Given the description of an element on the screen output the (x, y) to click on. 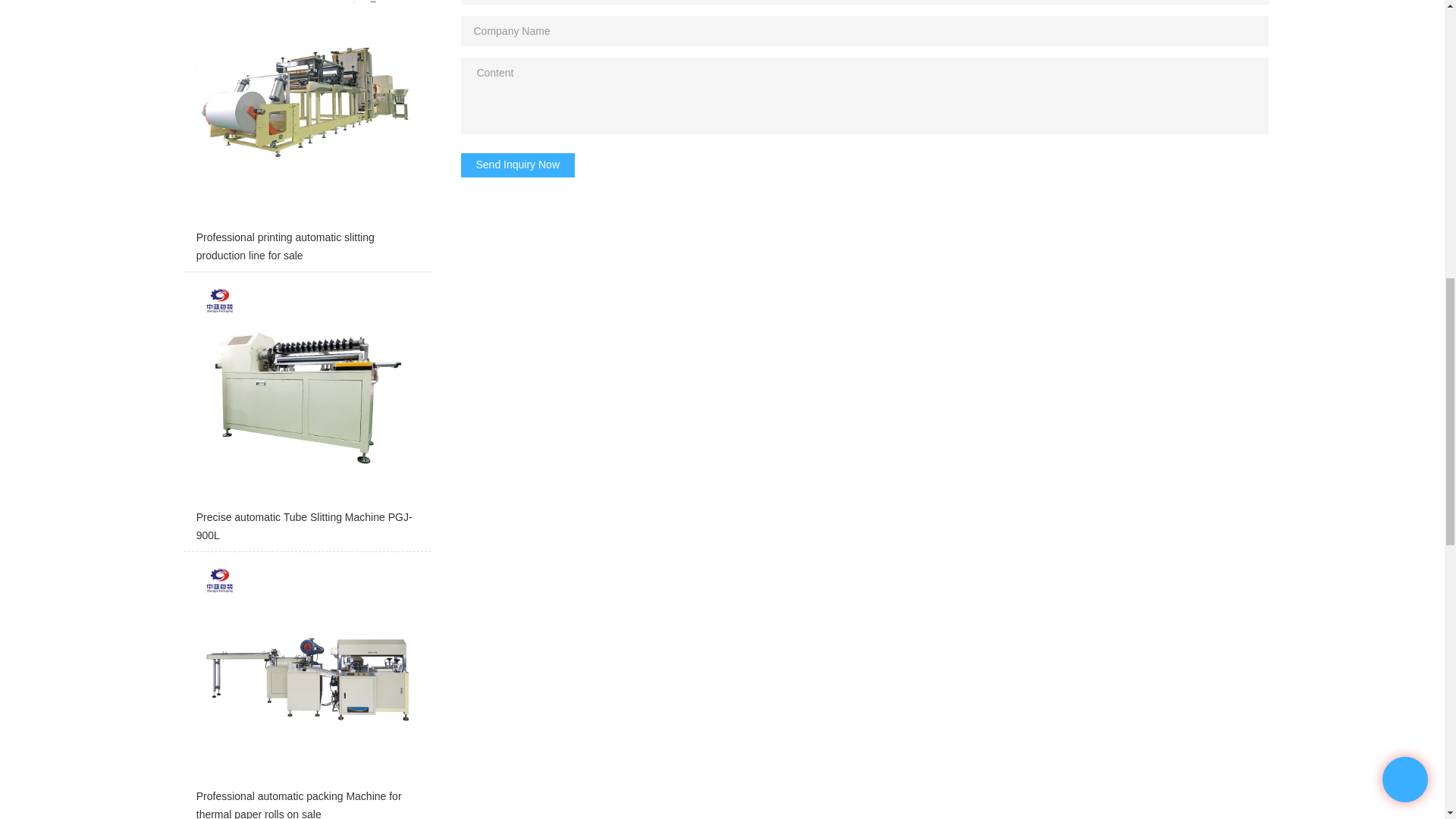
Precise automatic Tube Slitting Machine PGJ-900L (306, 415)
Send Inquiry Now (518, 165)
